Given the description of an element on the screen output the (x, y) to click on. 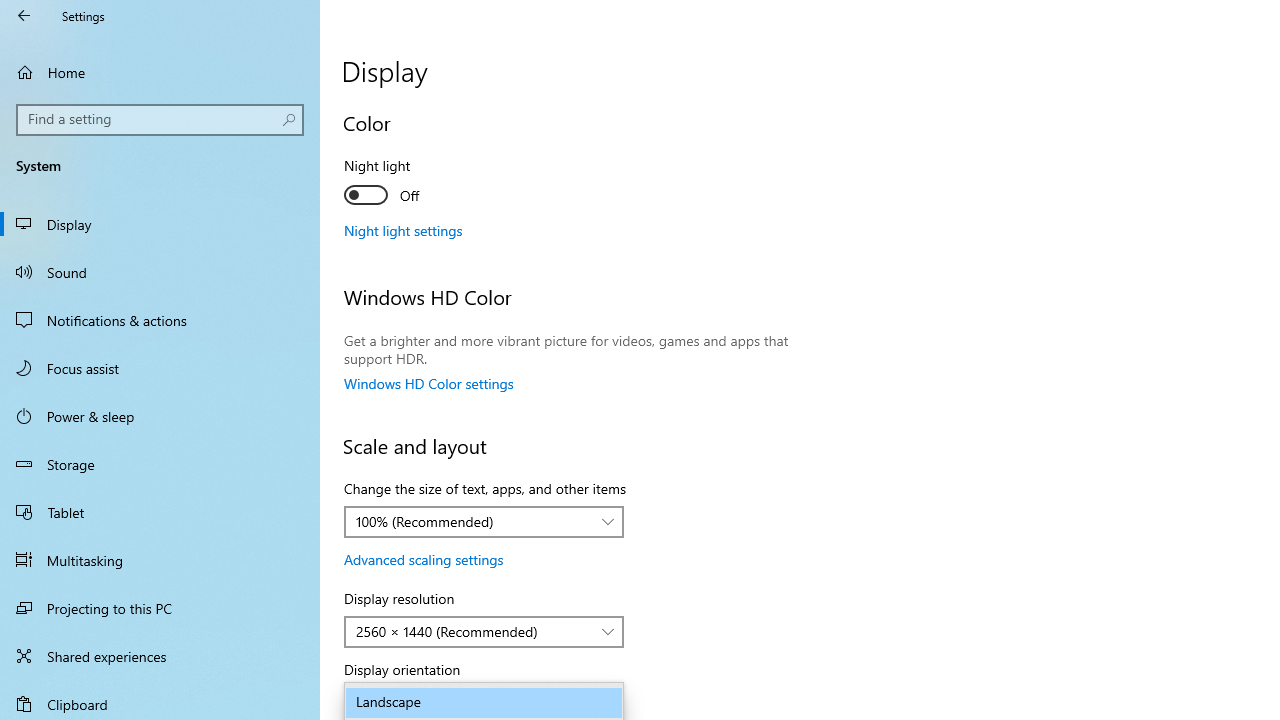
100% (Recommended) (473, 521)
Power & sleep (160, 415)
Night light settings (403, 230)
Home (160, 71)
Multitasking (160, 559)
Back (24, 15)
Search box, Find a setting (160, 119)
Landscape (484, 702)
